Given the description of an element on the screen output the (x, y) to click on. 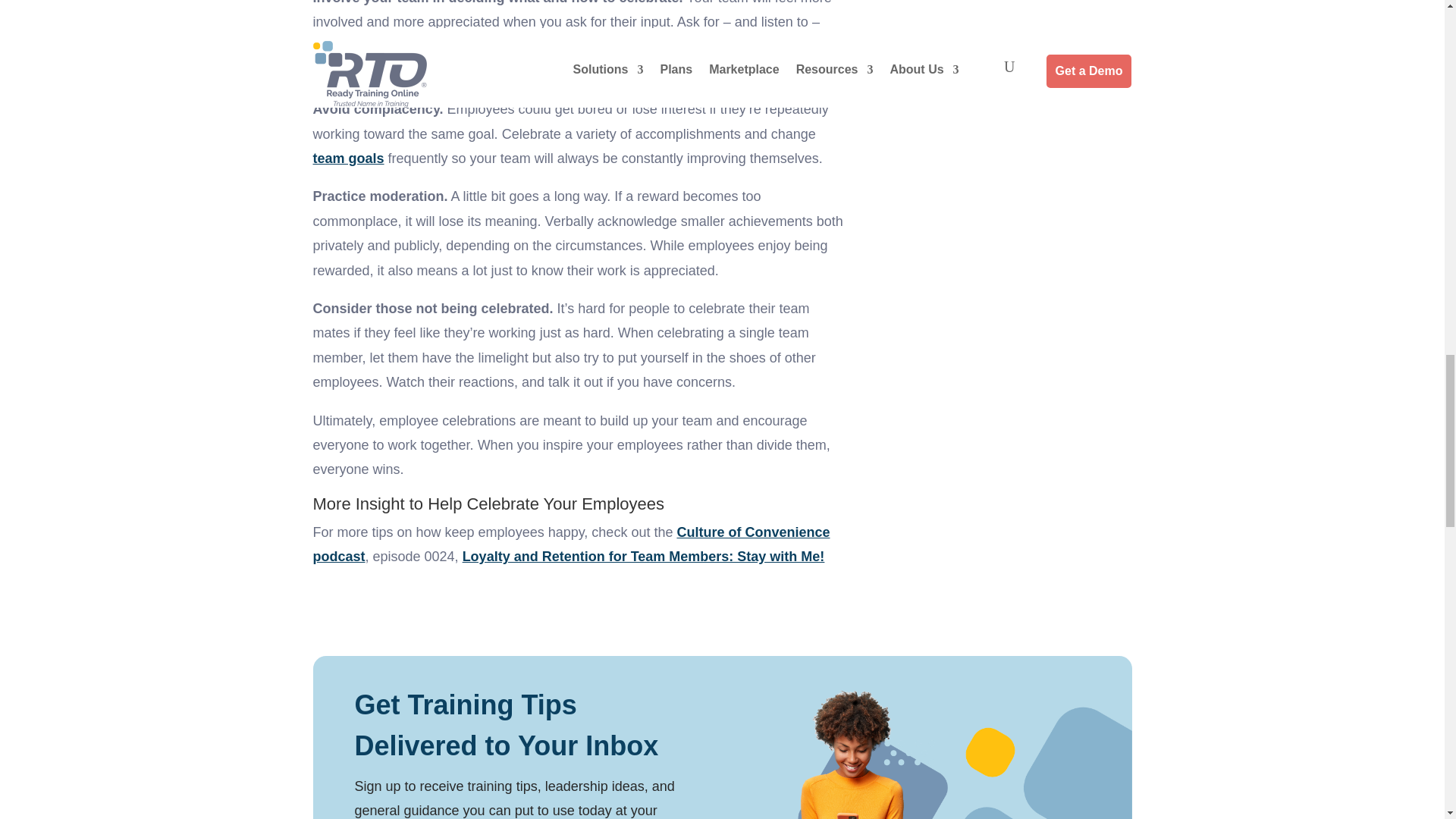
blog-post-cta-image (963, 751)
